Given the description of an element on the screen output the (x, y) to click on. 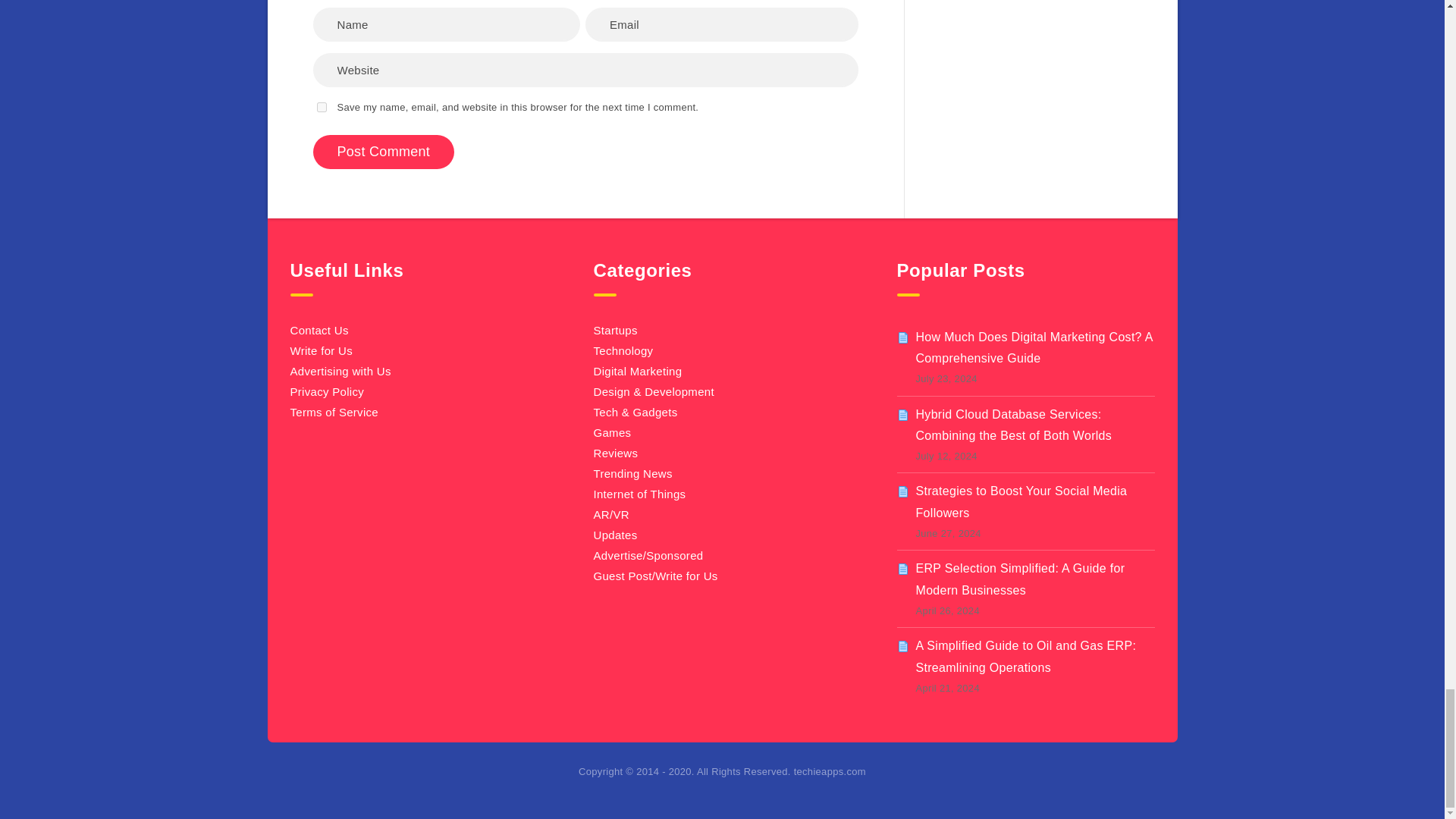
Post Comment (383, 151)
yes (321, 107)
